Given the description of an element on the screen output the (x, y) to click on. 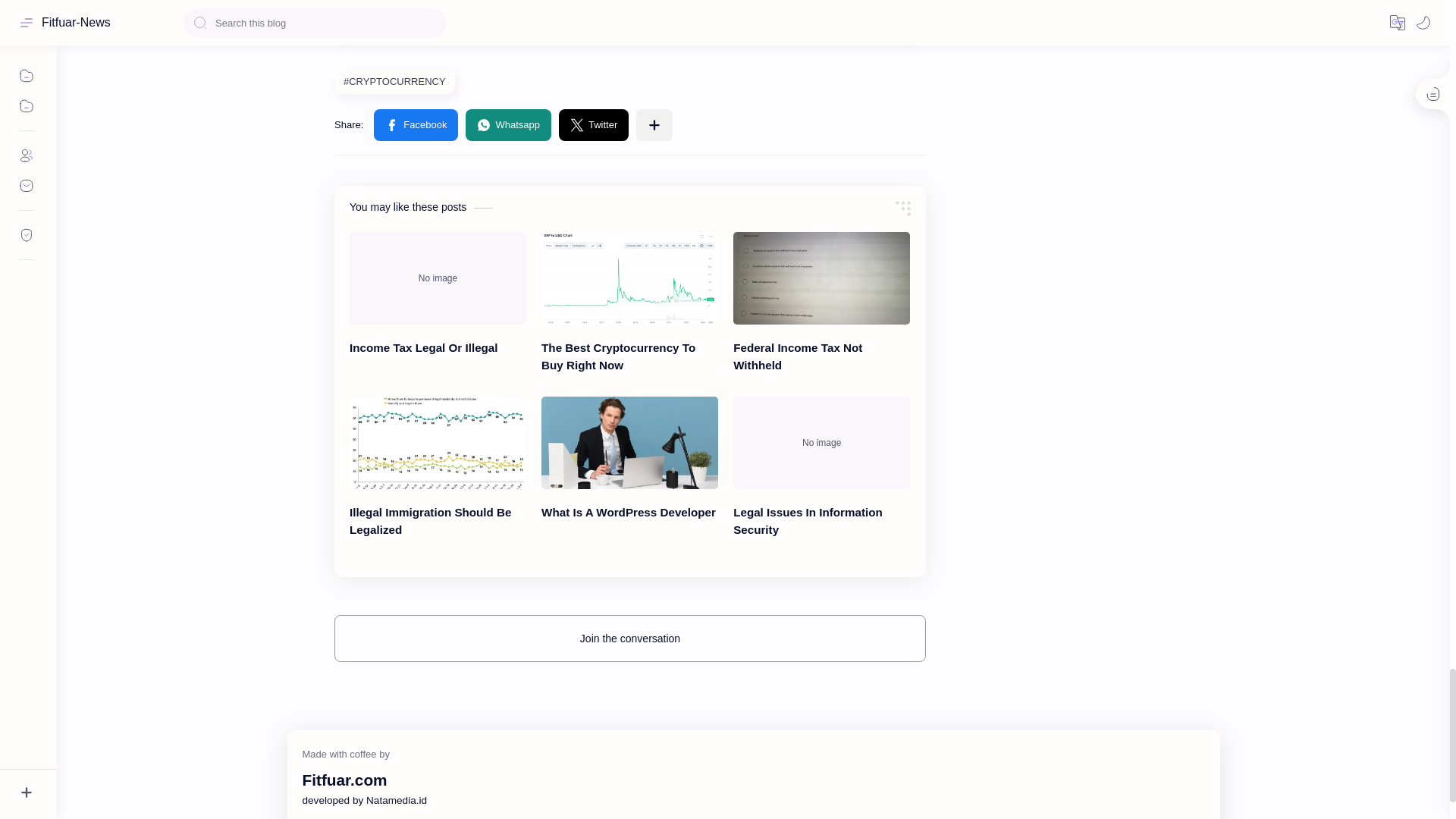
Federal Income Tax Not Withheld (821, 277)
What Is A WordPress Developer (629, 442)
The Best Cryptocurrency To Buy Right Now (629, 277)
Income Tax Legal Or Illegal (437, 277)
Illegal Immigration Should Be Legalized (437, 442)
Legal Issues In Information Security (821, 442)
